Given the description of an element on the screen output the (x, y) to click on. 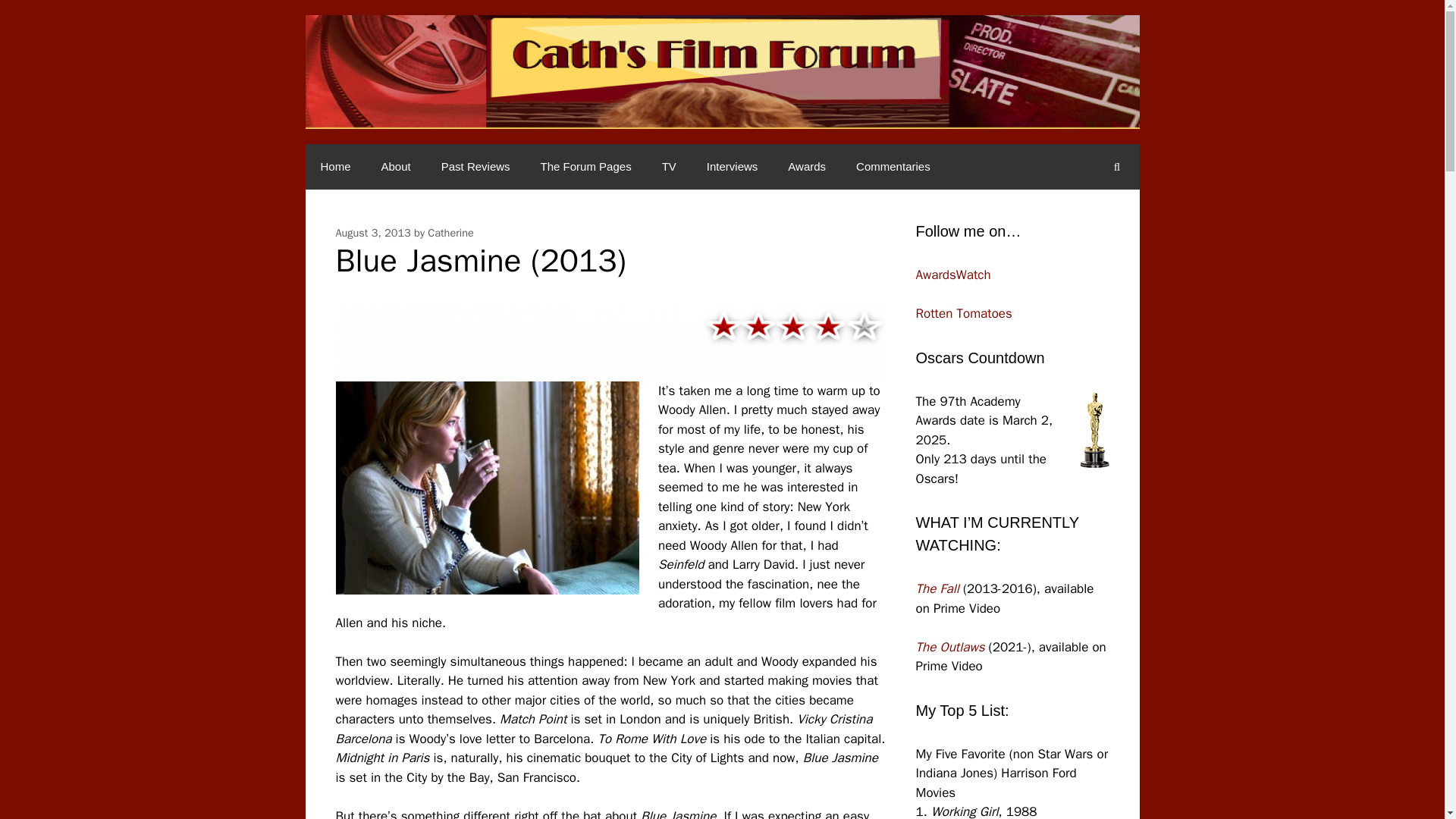
Awards (807, 166)
The Outlaws (950, 646)
About (396, 166)
AwardsWatch (953, 274)
The Fall (937, 588)
Catherine (451, 232)
View all posts by Catherine (451, 232)
Commentaries (892, 166)
Past Reviews (475, 166)
Home (334, 166)
Rotten Tomatoes (963, 313)
Interviews (732, 166)
The Forum Pages (585, 166)
TV (668, 166)
